Given the description of an element on the screen output the (x, y) to click on. 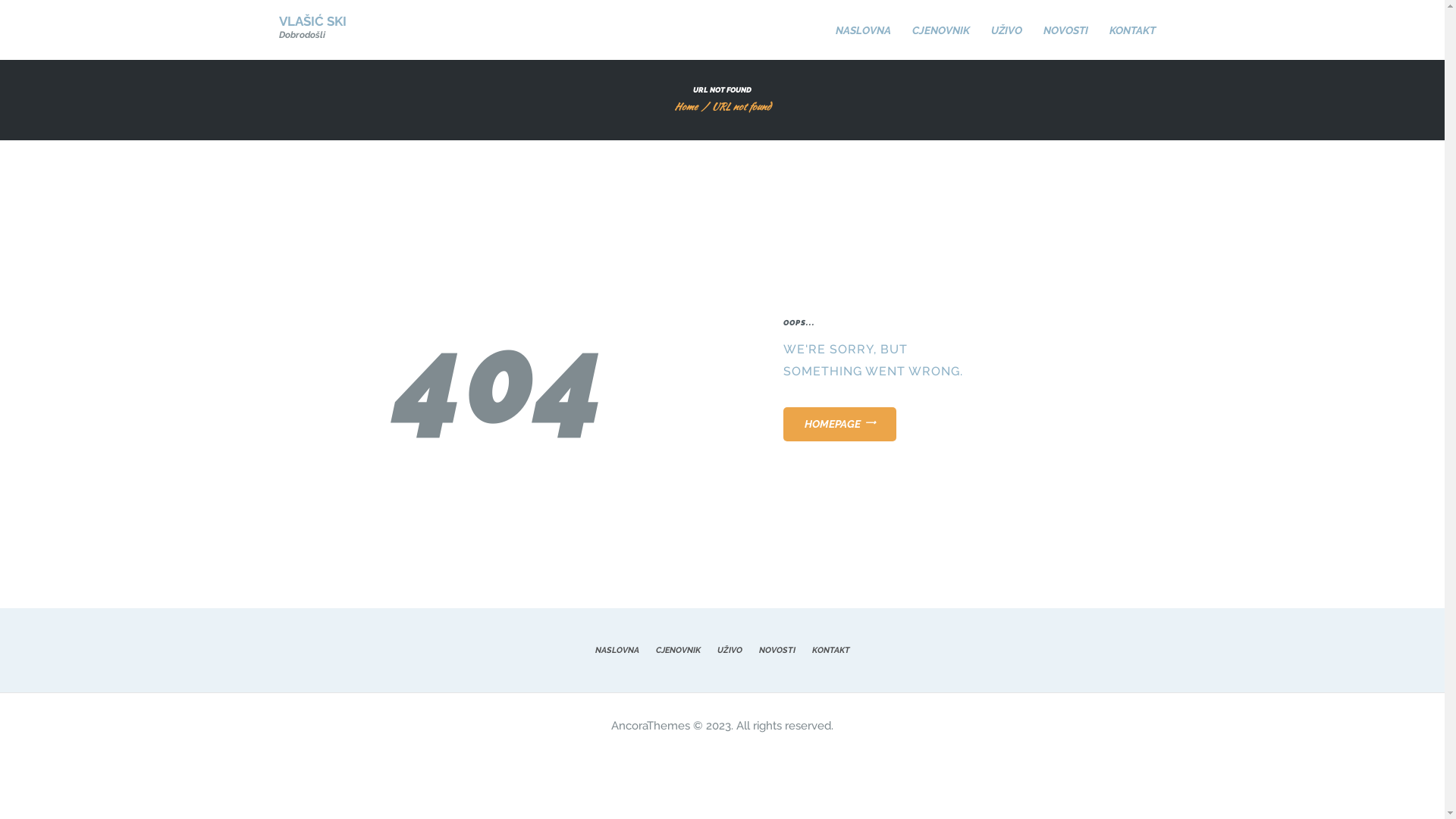
NASLOVNA Element type: text (616, 650)
NOVOSTI Element type: text (776, 650)
CJENOVNIK Element type: text (939, 30)
Home Element type: text (685, 106)
NOVOSTI Element type: text (1065, 30)
KONTAKT Element type: text (1131, 30)
NASLOVNA Element type: text (863, 30)
CJENOVNIK Element type: text (678, 650)
HOMEPAGE Element type: text (839, 424)
KONTAKT Element type: text (830, 650)
